Given the description of an element on the screen output the (x, y) to click on. 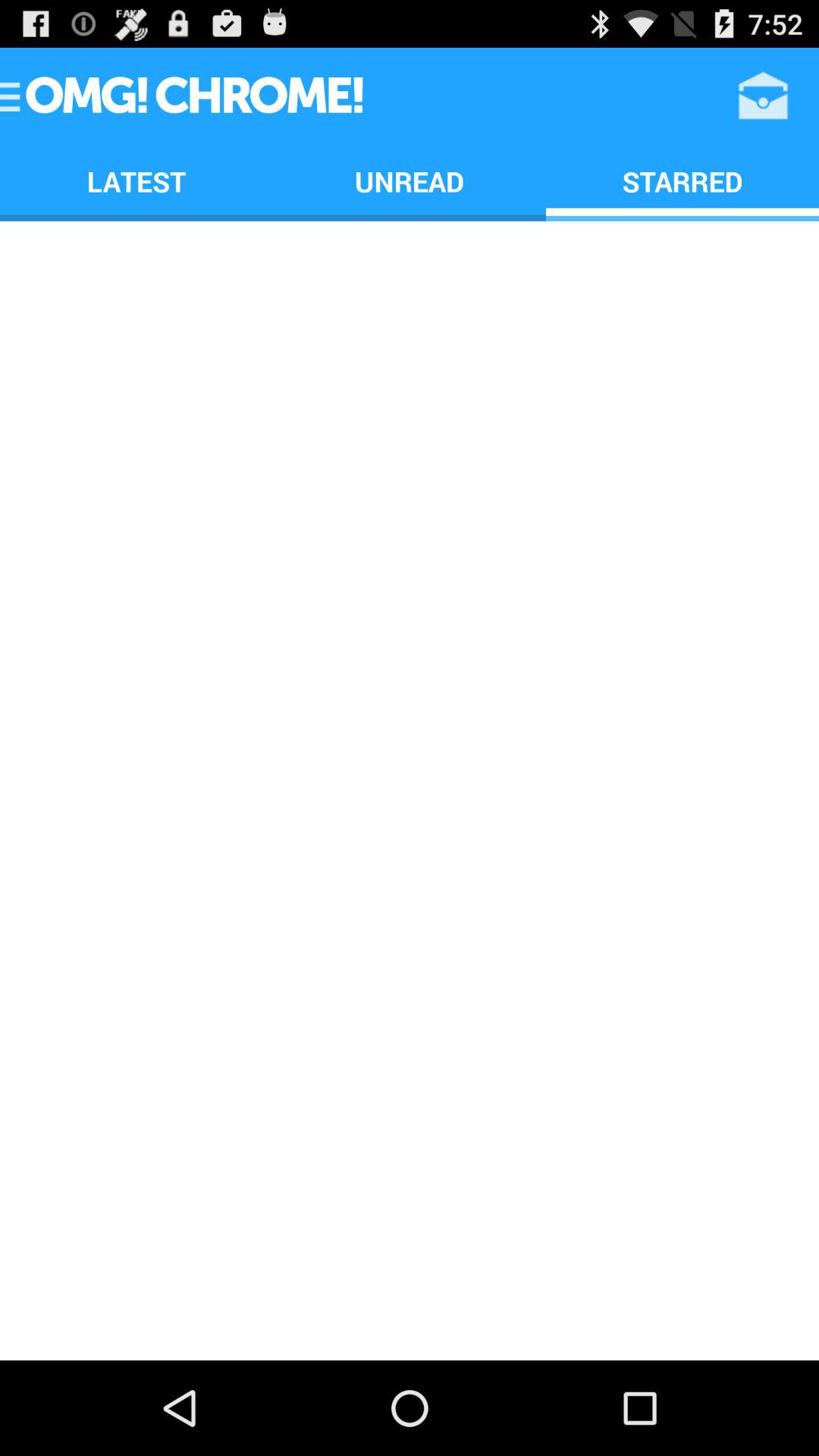
launch the item above the starred icon (763, 95)
